Given the description of an element on the screen output the (x, y) to click on. 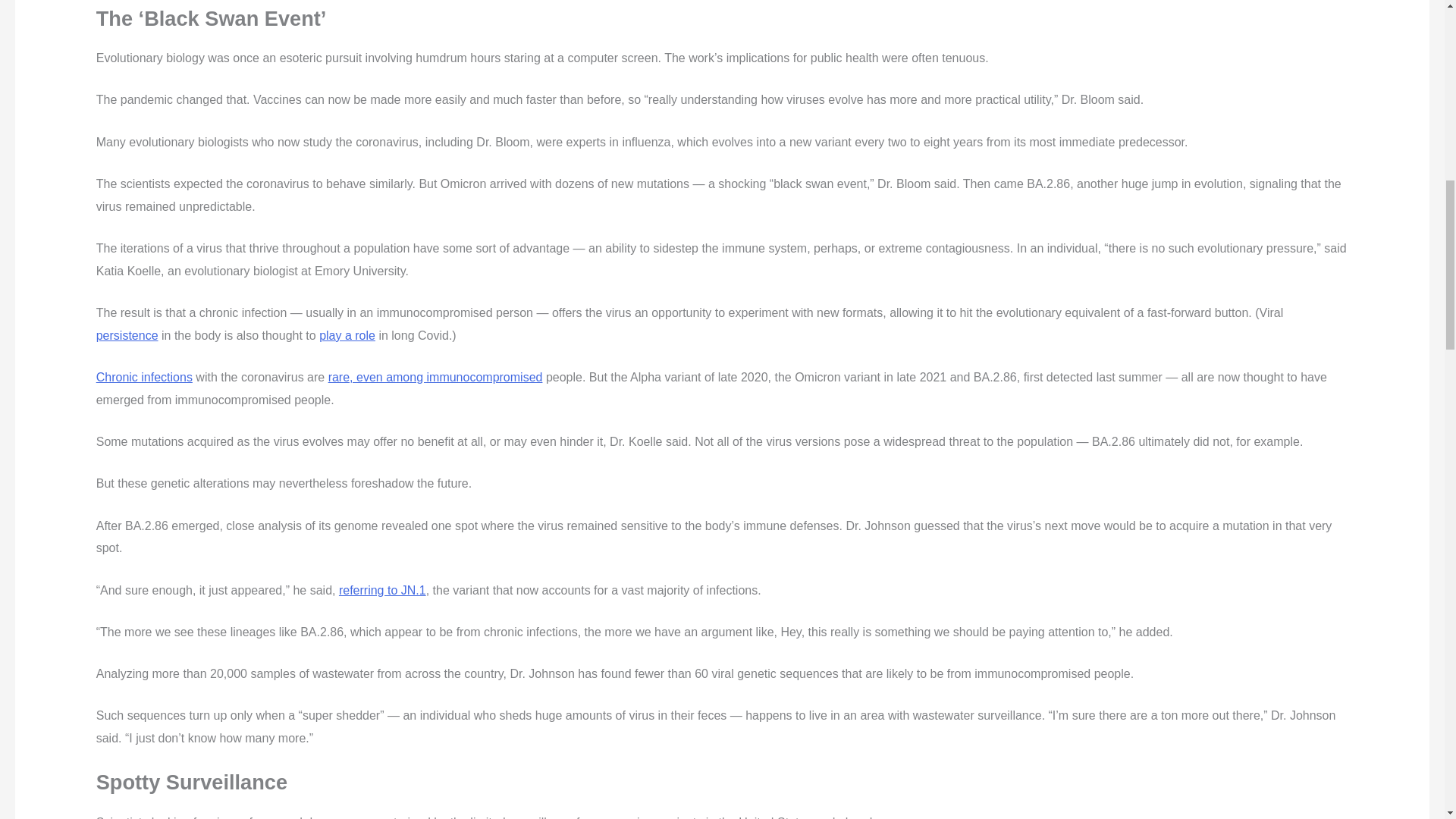
rare, even among immunocompromised (436, 377)
persistence (127, 335)
play a role (346, 335)
Chronic infections (144, 377)
referring to JN.1 (382, 590)
